Given the description of an element on the screen output the (x, y) to click on. 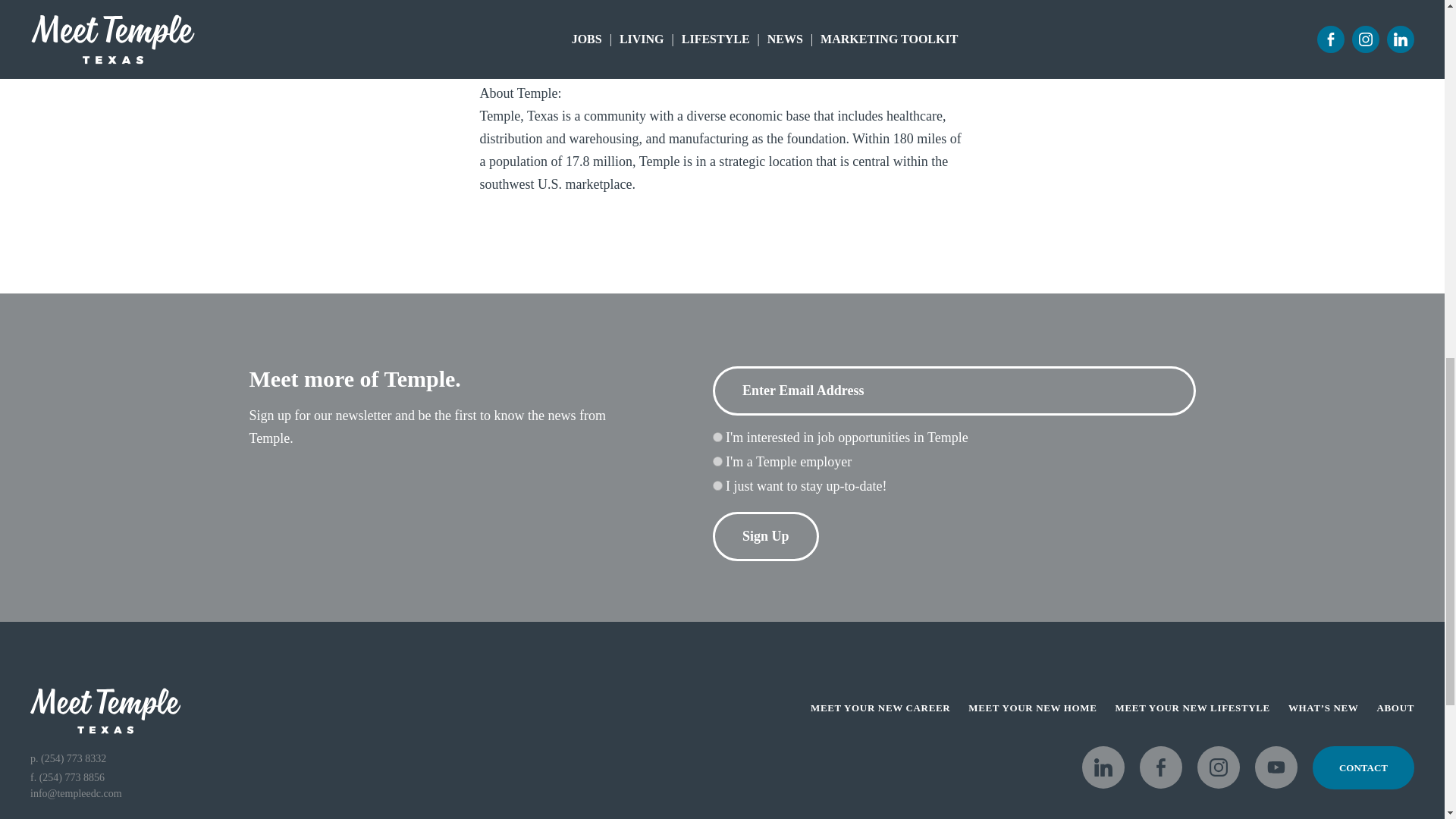
Employer (717, 461)
MEET YOUR NEW CAREER (880, 708)
MEET YOUR NEW LIFESTYLE (1192, 708)
MEET YOUR NEW HOME (1032, 708)
Sign Up (765, 536)
Sign Up (765, 536)
Job Seeker (717, 437)
